Given the description of an element on the screen output the (x, y) to click on. 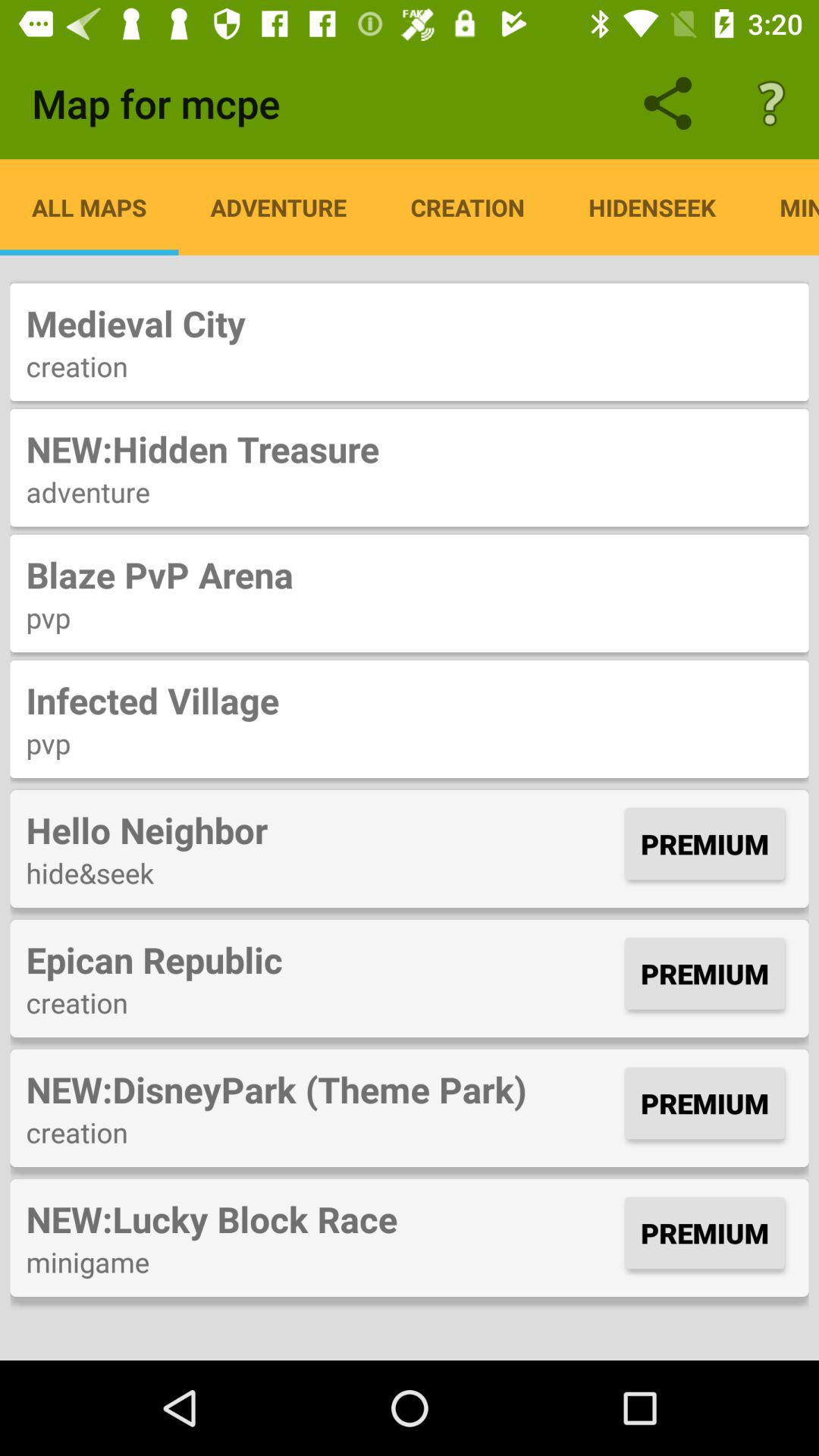
select the hidenseek (651, 207)
